Given the description of an element on the screen output the (x, y) to click on. 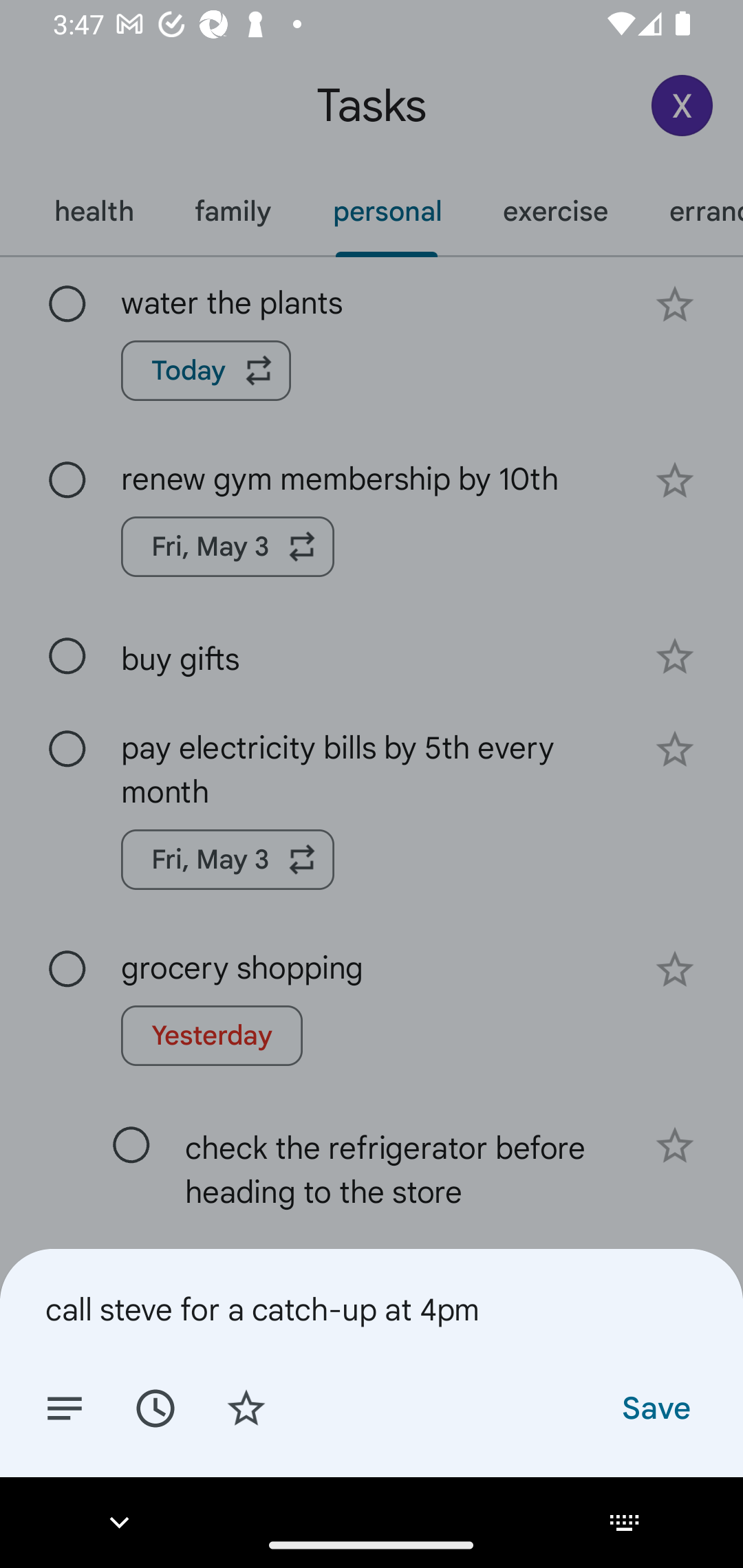
call steve for a catch-up at 4pm (371, 1308)
Save (655, 1407)
Add details (64, 1407)
Set date/time (154, 1407)
Add star (245, 1407)
